Given the description of an element on the screen output the (x, y) to click on. 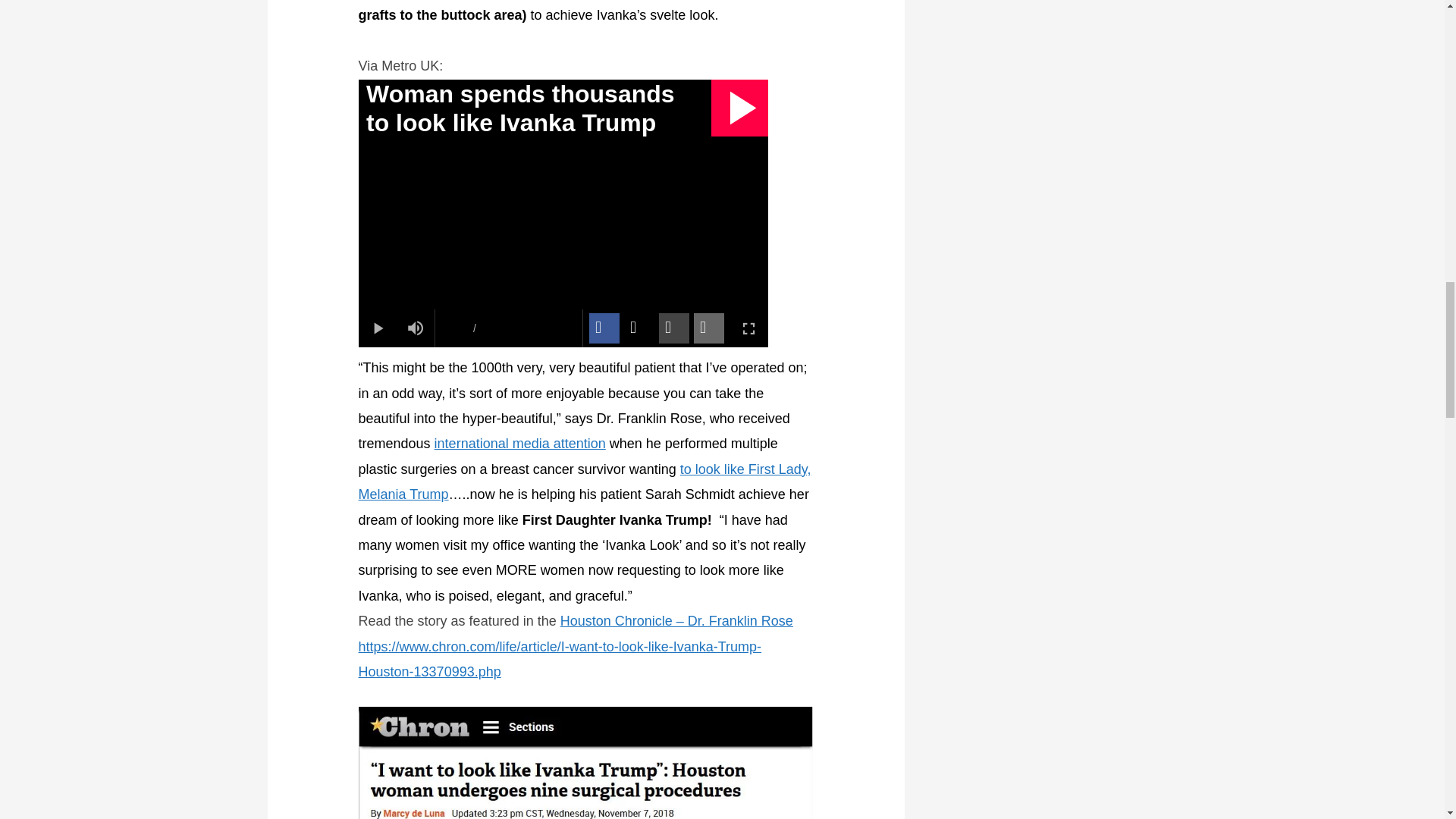
international media attention (519, 443)
Metro Embed Video Player (563, 213)
to look like First Lady, Melania Trump (584, 481)
